Given the description of an element on the screen output the (x, y) to click on. 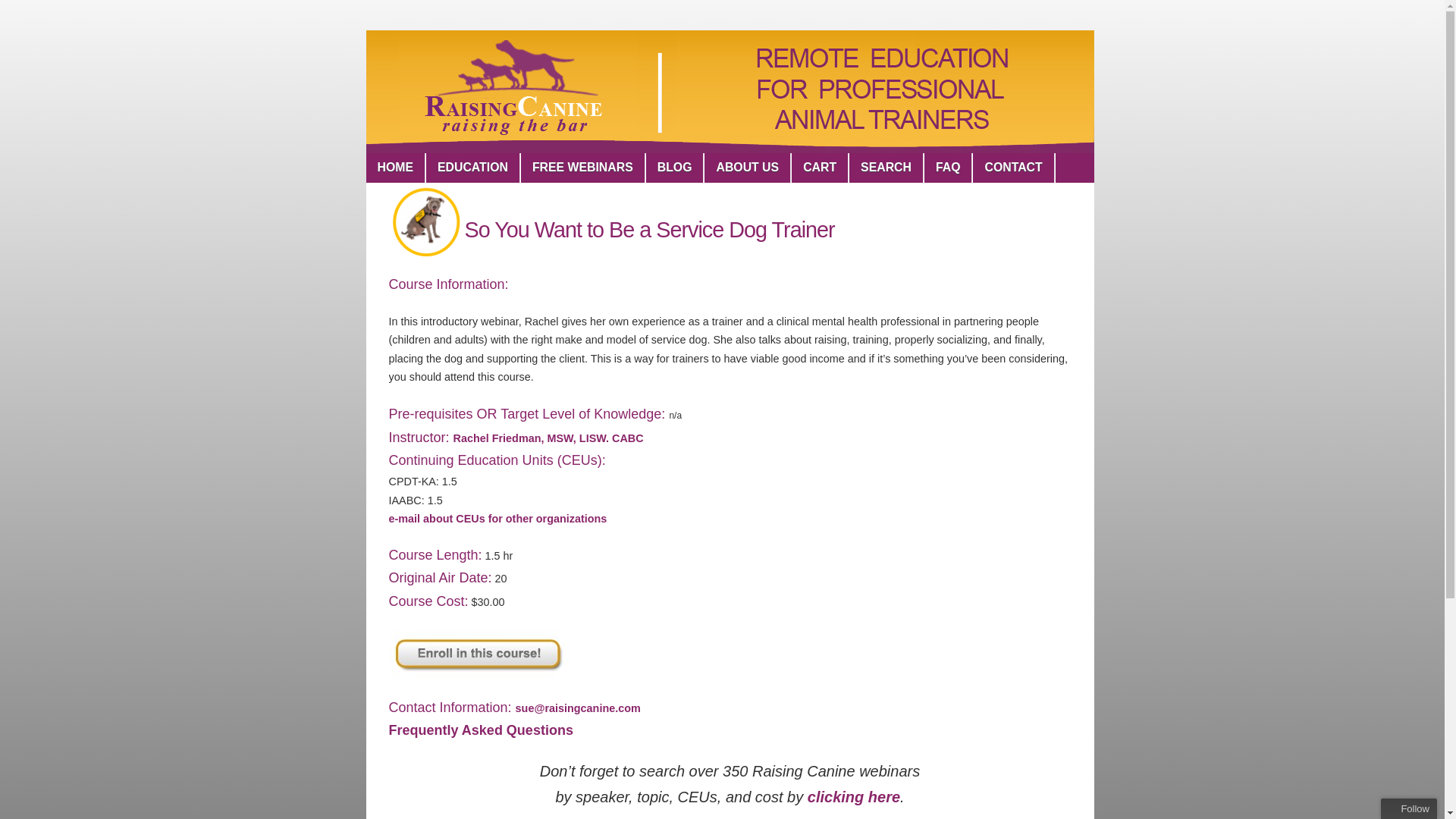
EDUCATION (472, 167)
ABOUT US (747, 167)
clicking here (853, 796)
FREE WEBINARS (583, 167)
SEARCH (885, 167)
e-mail about CEUs for other organizations (497, 518)
CART (820, 167)
BLOG (675, 167)
Rachel Friedman, MSW, LISW. CABC (547, 438)
Frequently Asked Questions (480, 730)
FAQ (948, 167)
HOME (395, 167)
CONTACT (1013, 167)
